Given the description of an element on the screen output the (x, y) to click on. 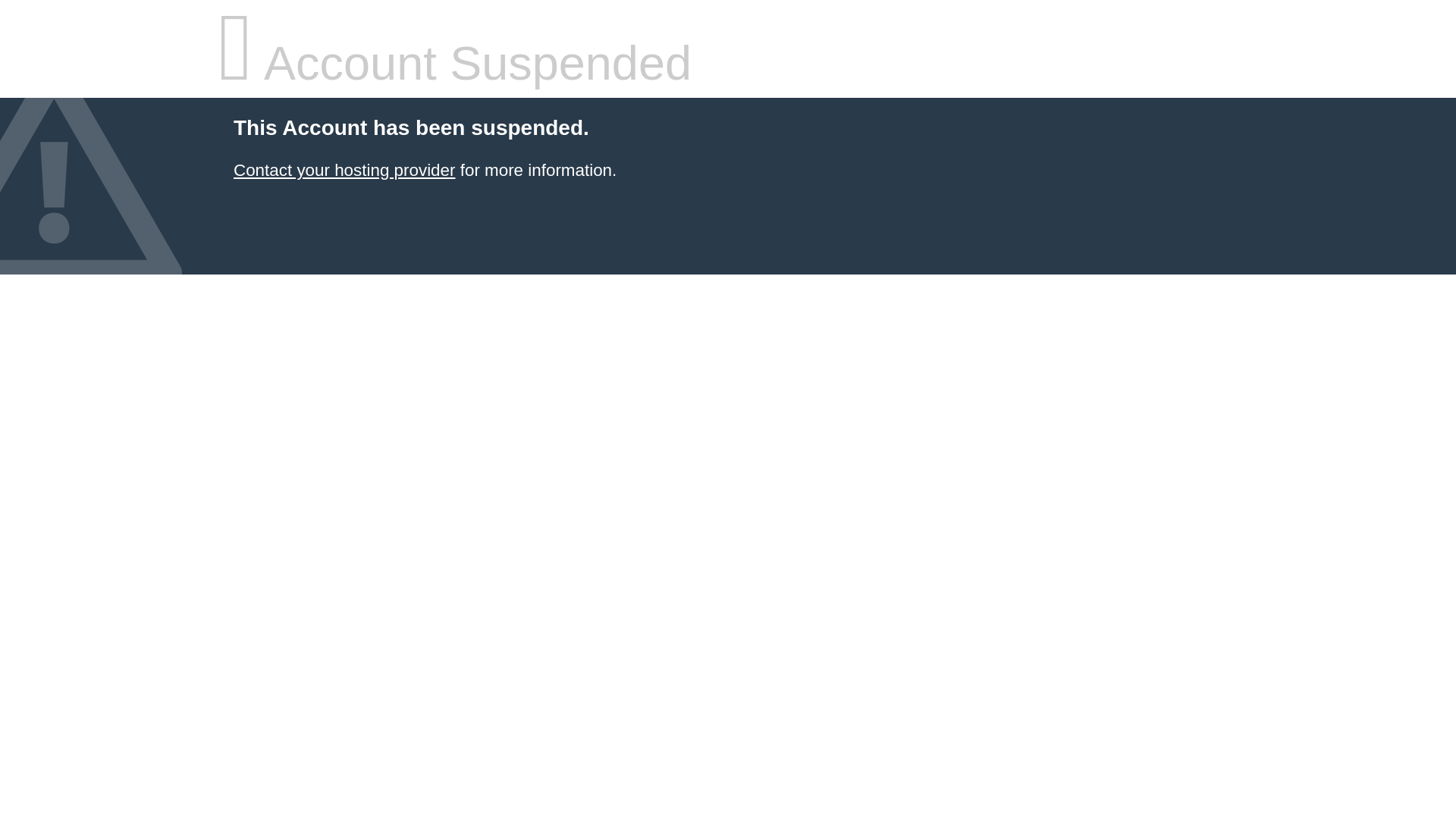
Contact your hosting provider (343, 169)
